Given the description of an element on the screen output the (x, y) to click on. 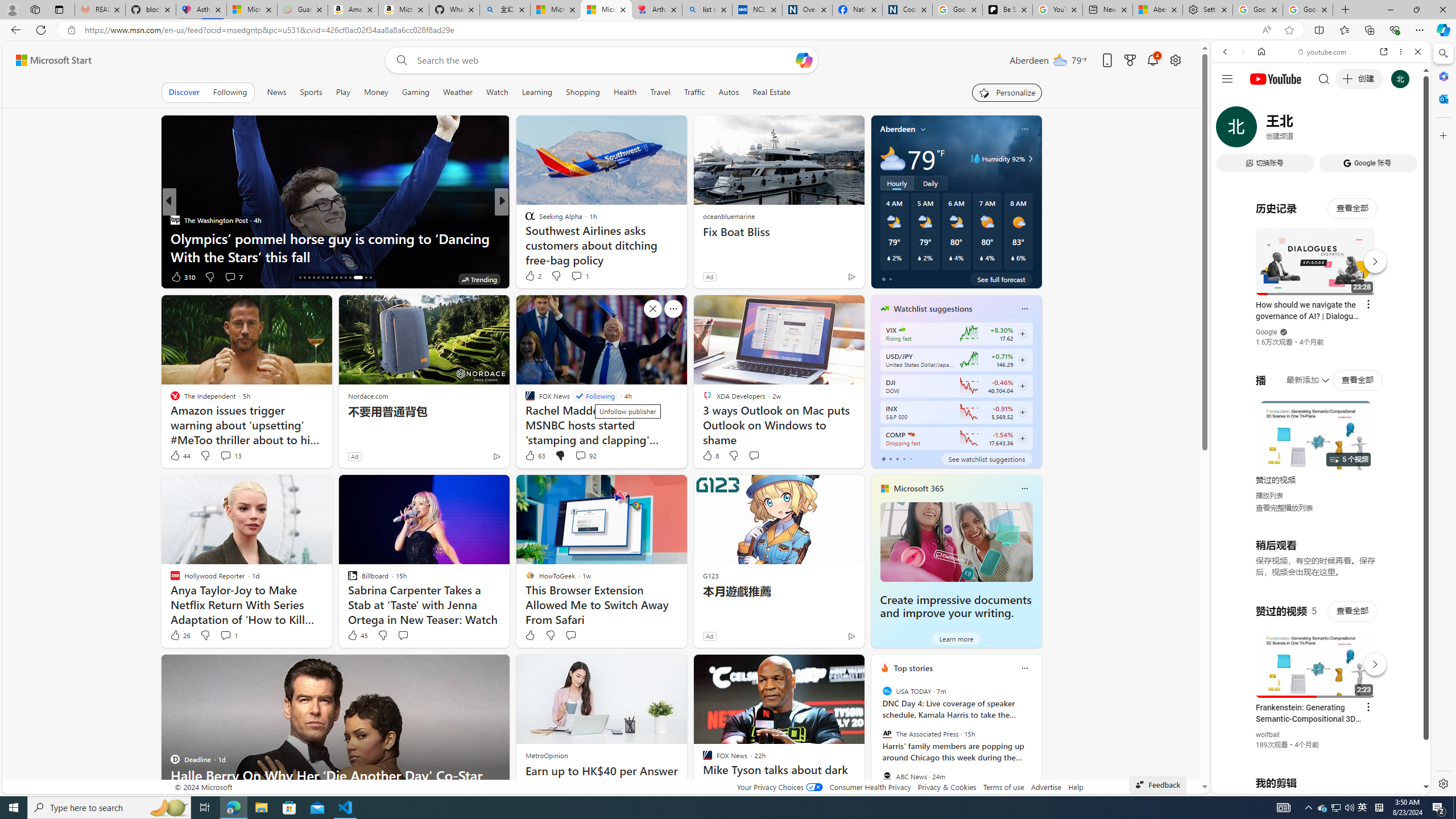
Search videos from youtube.com (1299, 373)
Terms of use (1003, 786)
Consumer Health Privacy (870, 786)
Weather (457, 92)
G123 (710, 574)
View comments 13 Comment (230, 455)
Address and search bar (669, 29)
YouTube (1315, 655)
44 Like (179, 455)
8 Like (710, 455)
